Given the description of an element on the screen output the (x, y) to click on. 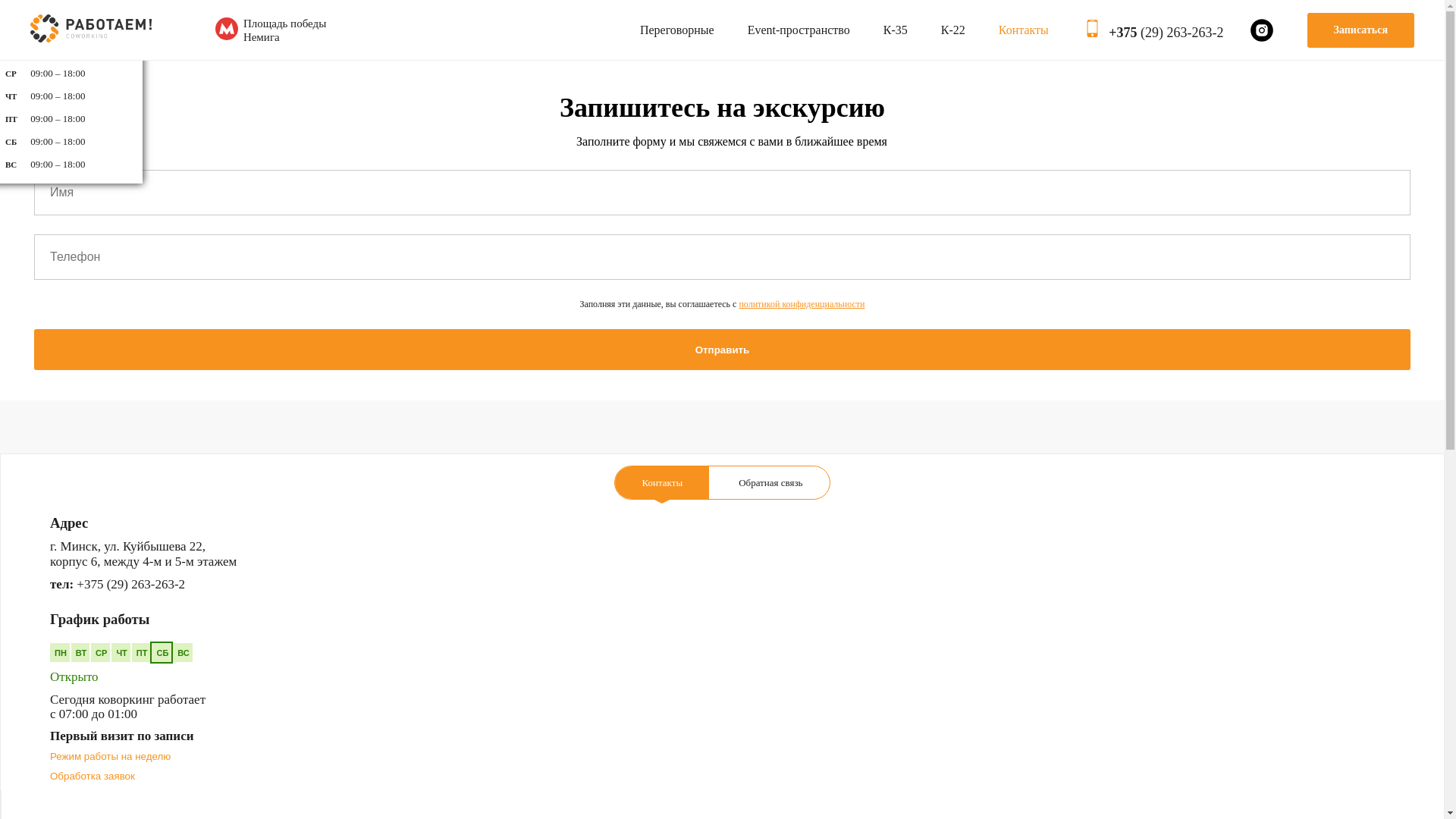
Instagram Element type: text (1261, 29)
